Given the description of an element on the screen output the (x, y) to click on. 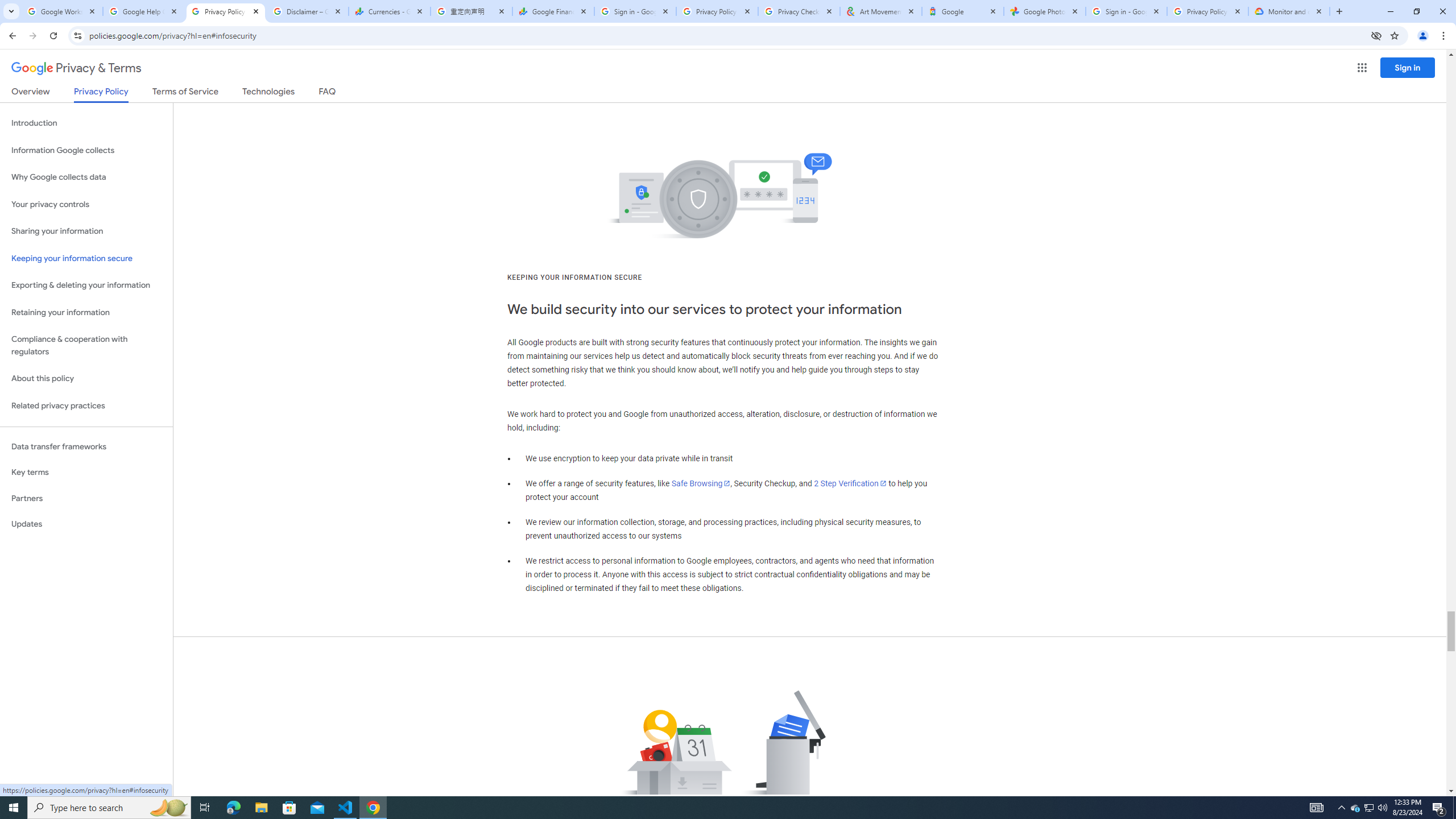
Google (963, 11)
About this policy (86, 379)
Currencies - Google Finance (389, 11)
Keeping your information secure (86, 258)
Compliance & cooperation with regulators (86, 345)
Privacy Checkup (798, 11)
Technologies (268, 93)
Retaining your information (86, 312)
